Given the description of an element on the screen output the (x, y) to click on. 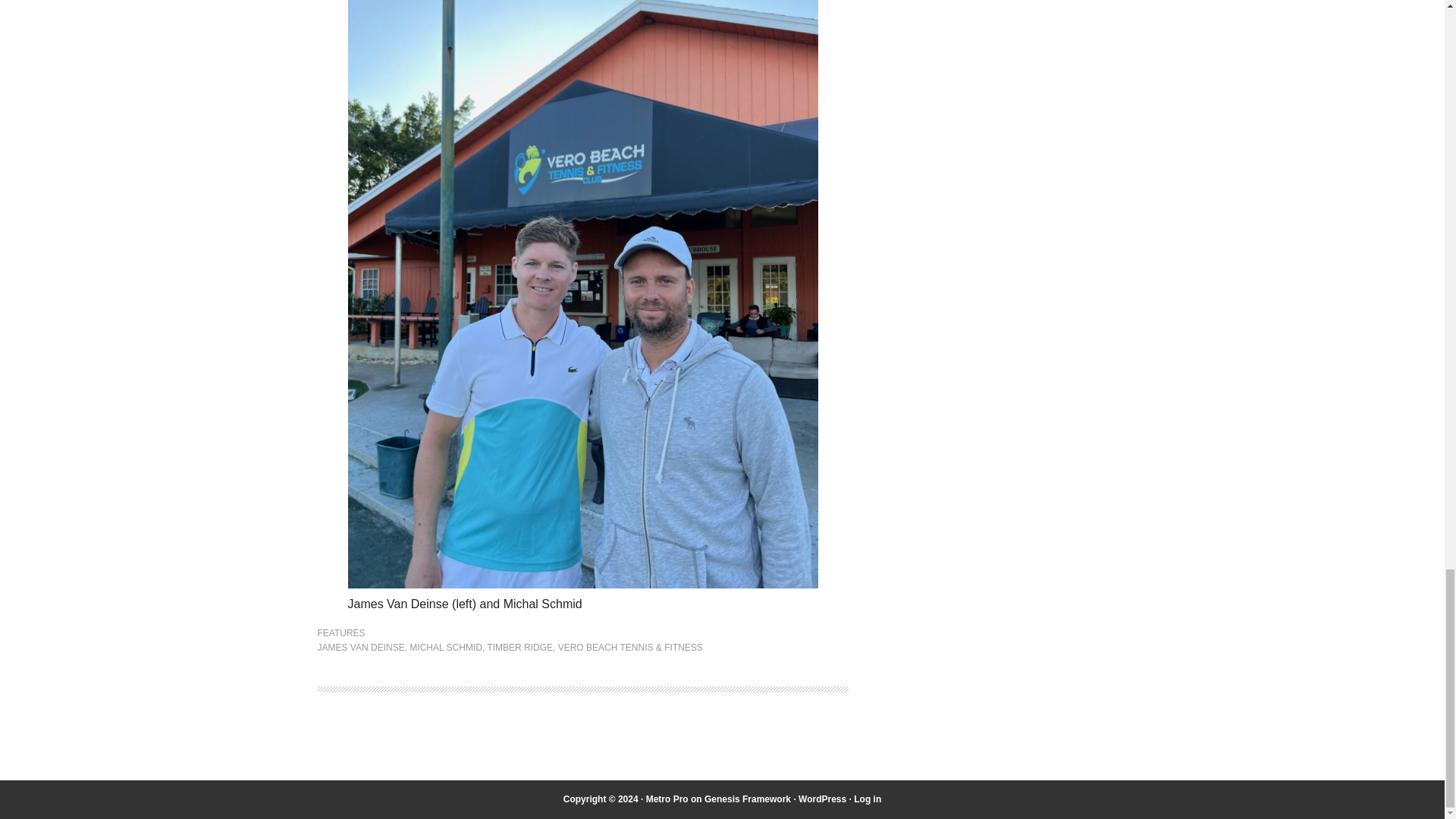
TIMBER RIDGE (519, 647)
FEATURES (341, 633)
Genesis Framework (747, 798)
JAMES VAN DEINSE (360, 647)
Metro Pro (667, 798)
MICHAL SCHMID (445, 647)
WordPress (821, 798)
Log in (866, 798)
